Given the description of an element on the screen output the (x, y) to click on. 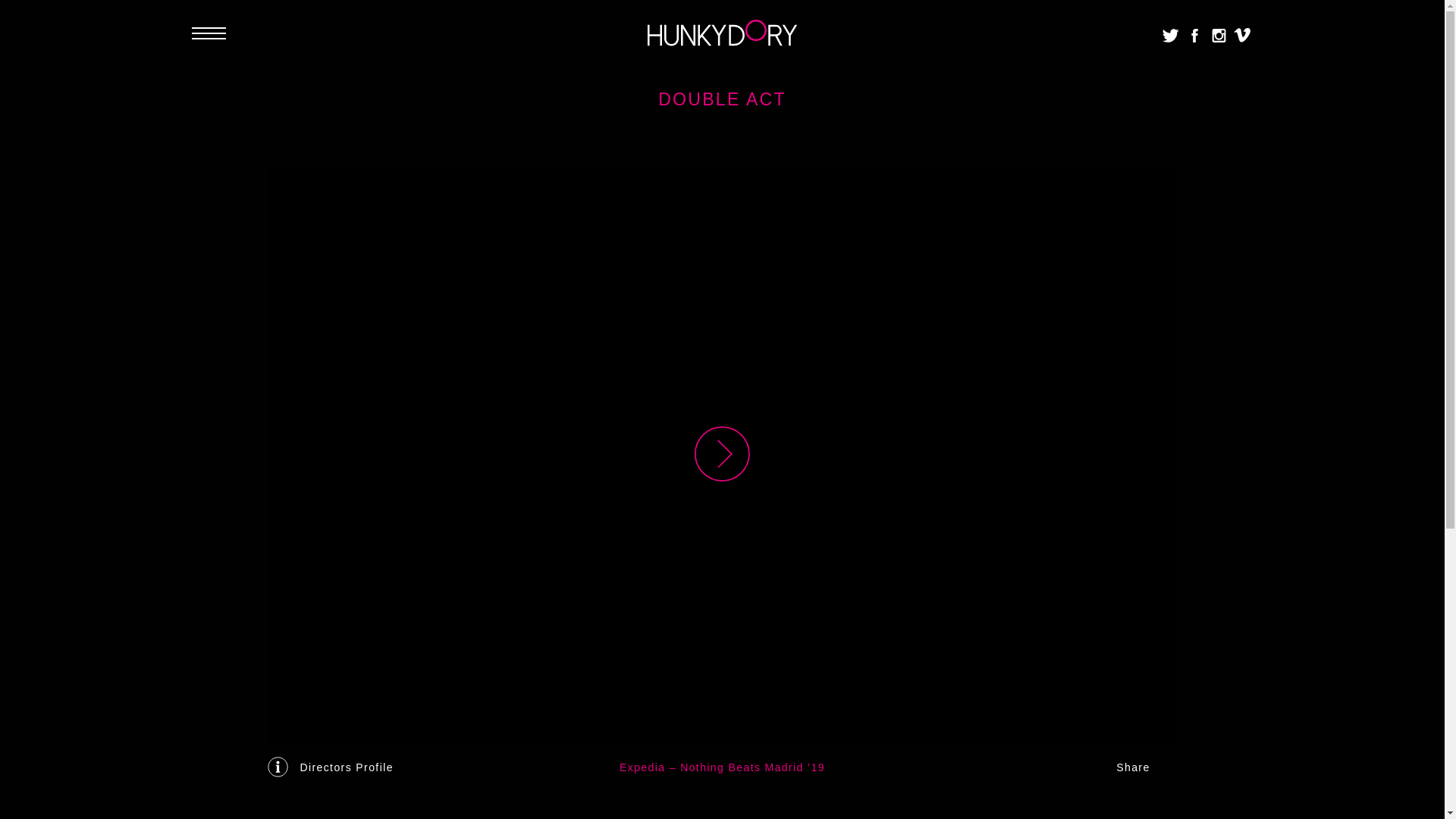
Share (1146, 767)
Double Act (722, 455)
